Given the description of an element on the screen output the (x, y) to click on. 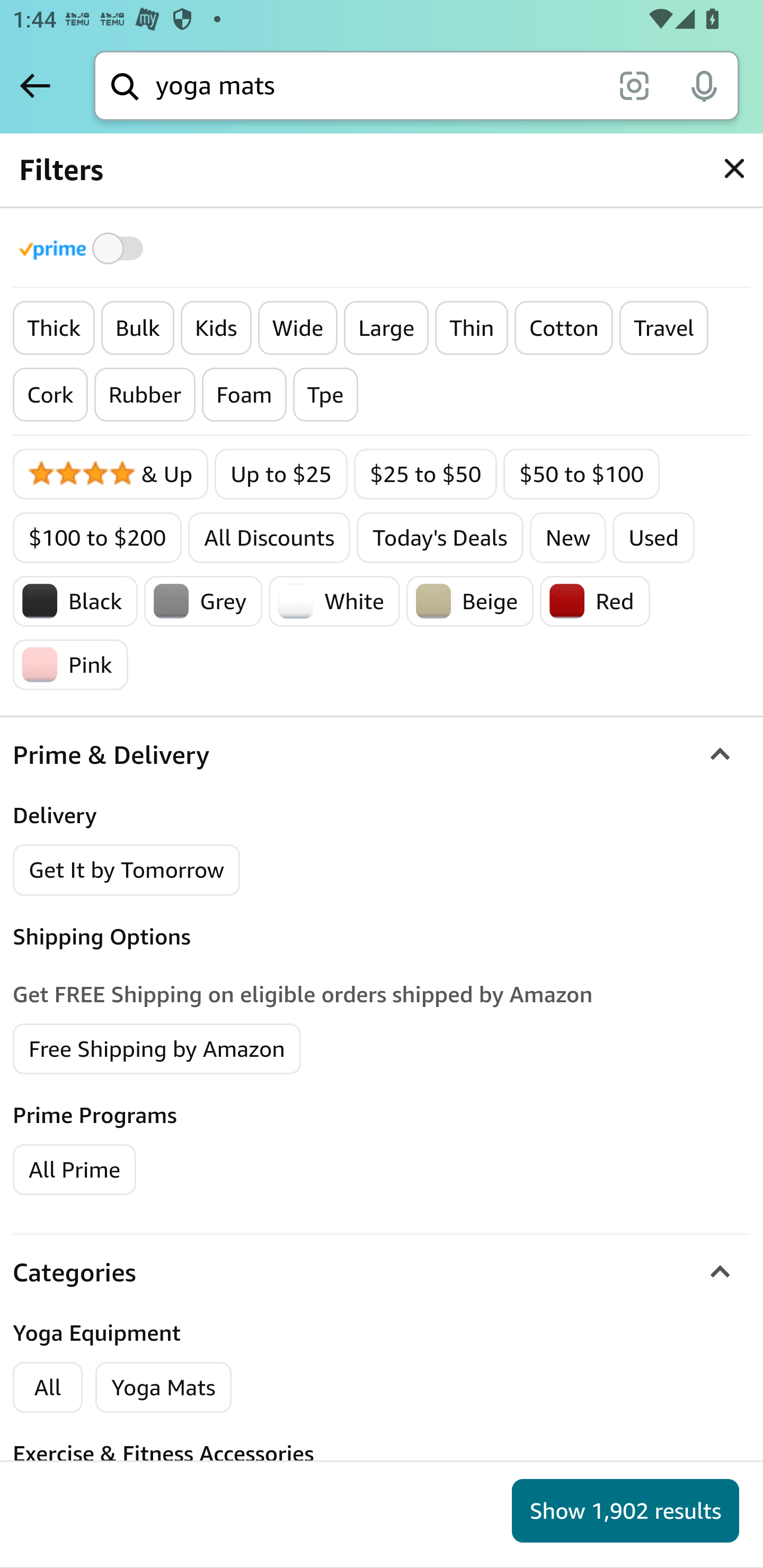
Back (35, 85)
scan it (633, 85)
Toggle to filter by Prime products Prime Eligible (83, 247)
Thick (53, 328)
Bulk (136, 328)
Kids (215, 328)
Wide (297, 328)
Large (385, 328)
Thin (471, 328)
Cotton (563, 328)
Travel (663, 328)
Cork (50, 394)
Rubber (144, 394)
Foam (244, 394)
Tpe (325, 394)
4 Stars & Up (110, 474)
Up to $25 (280, 474)
$25 to $50 (424, 474)
$50 to $100 (581, 474)
$100 to $200 (97, 537)
All Discounts (268, 537)
Today's Deals (440, 537)
New (568, 537)
Used (653, 537)
Black Black Black Black (75, 601)
Grey Grey Grey Grey (203, 601)
White White White White (334, 601)
Beige Beige Beige Beige (469, 601)
Red Red Red Red (594, 601)
Pink Pink Pink Pink (70, 664)
Prime & Delivery (381, 755)
Get It by Tomorrow (126, 869)
Free Shipping by Amazon (157, 1048)
All Prime (74, 1168)
Categories (381, 1271)
All (47, 1387)
Yoga Mats (163, 1387)
Show 1,902 results (625, 1510)
